Given the description of an element on the screen output the (x, y) to click on. 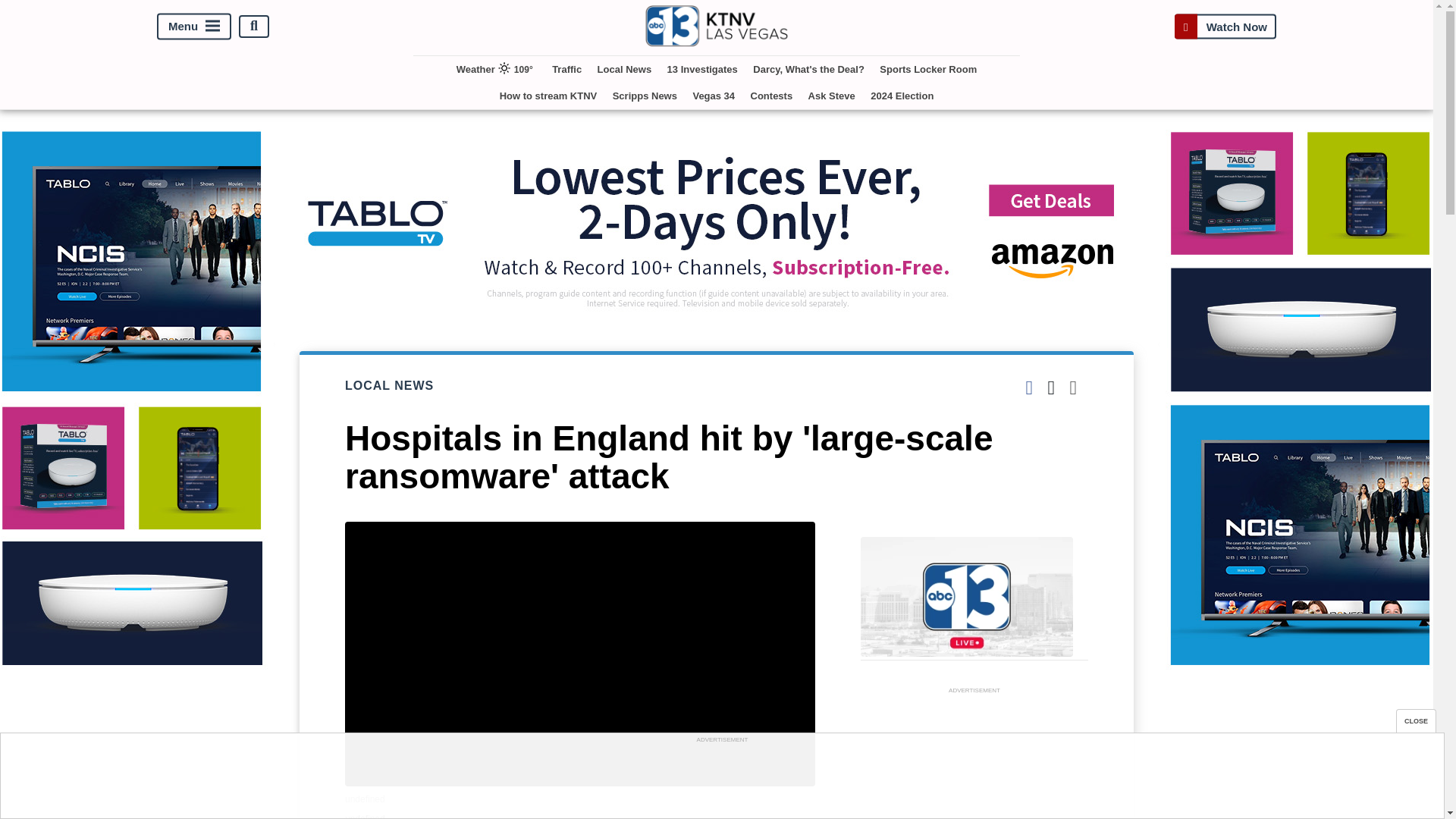
Watch Now (1224, 25)
3rd party ad content (721, 780)
3rd party ad content (973, 758)
Menu (194, 26)
